Given the description of an element on the screen output the (x, y) to click on. 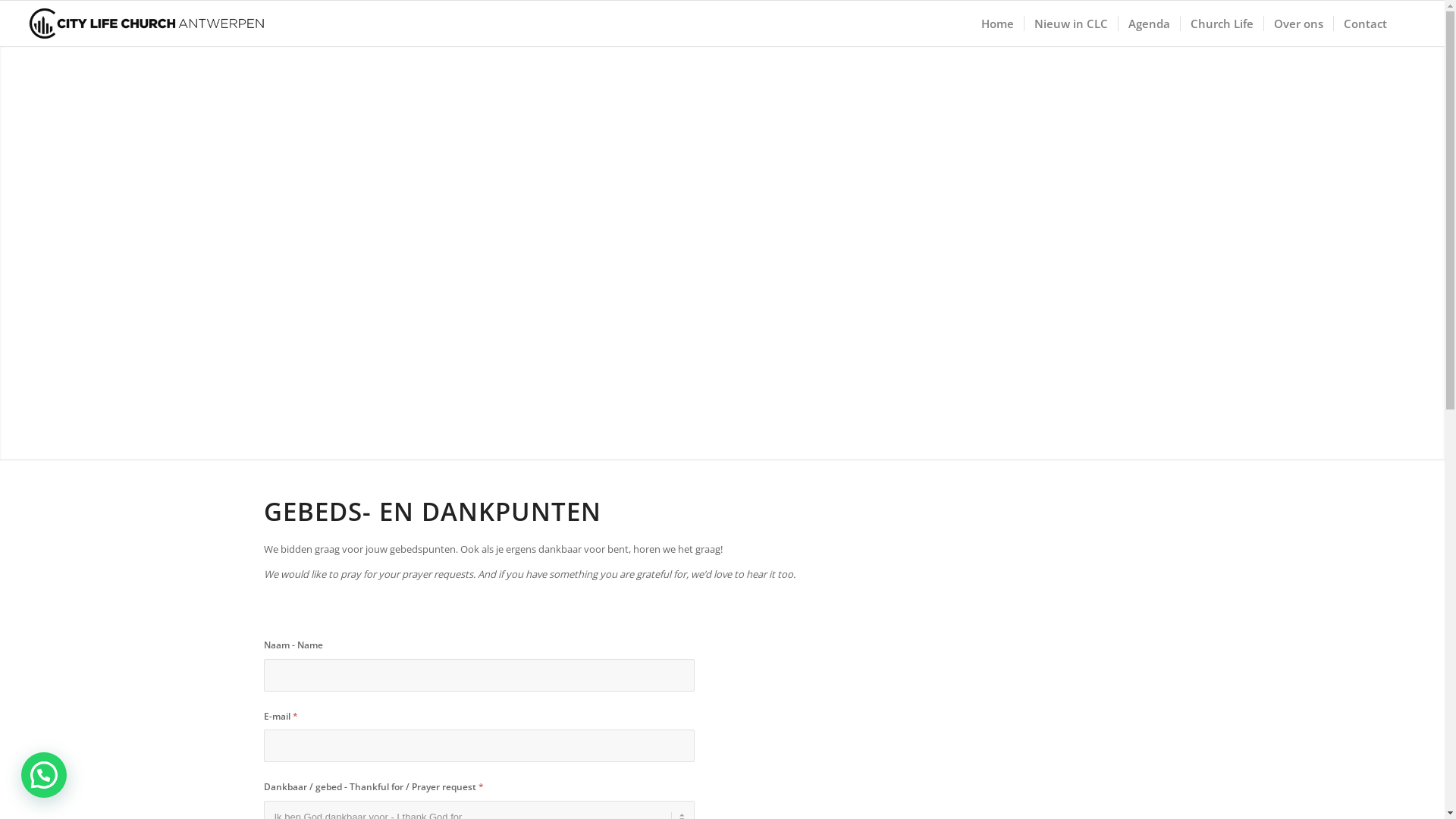
Contact Element type: text (1364, 23)
Over ons Element type: text (1298, 23)
Agenda Element type: text (1148, 23)
CLC Antwerpen logo liggend zw Element type: hover (170, 23)
Home Element type: text (997, 23)
Nieuw in CLC Element type: text (1070, 23)
Church Life Element type: text (1221, 23)
